Given the description of an element on the screen output the (x, y) to click on. 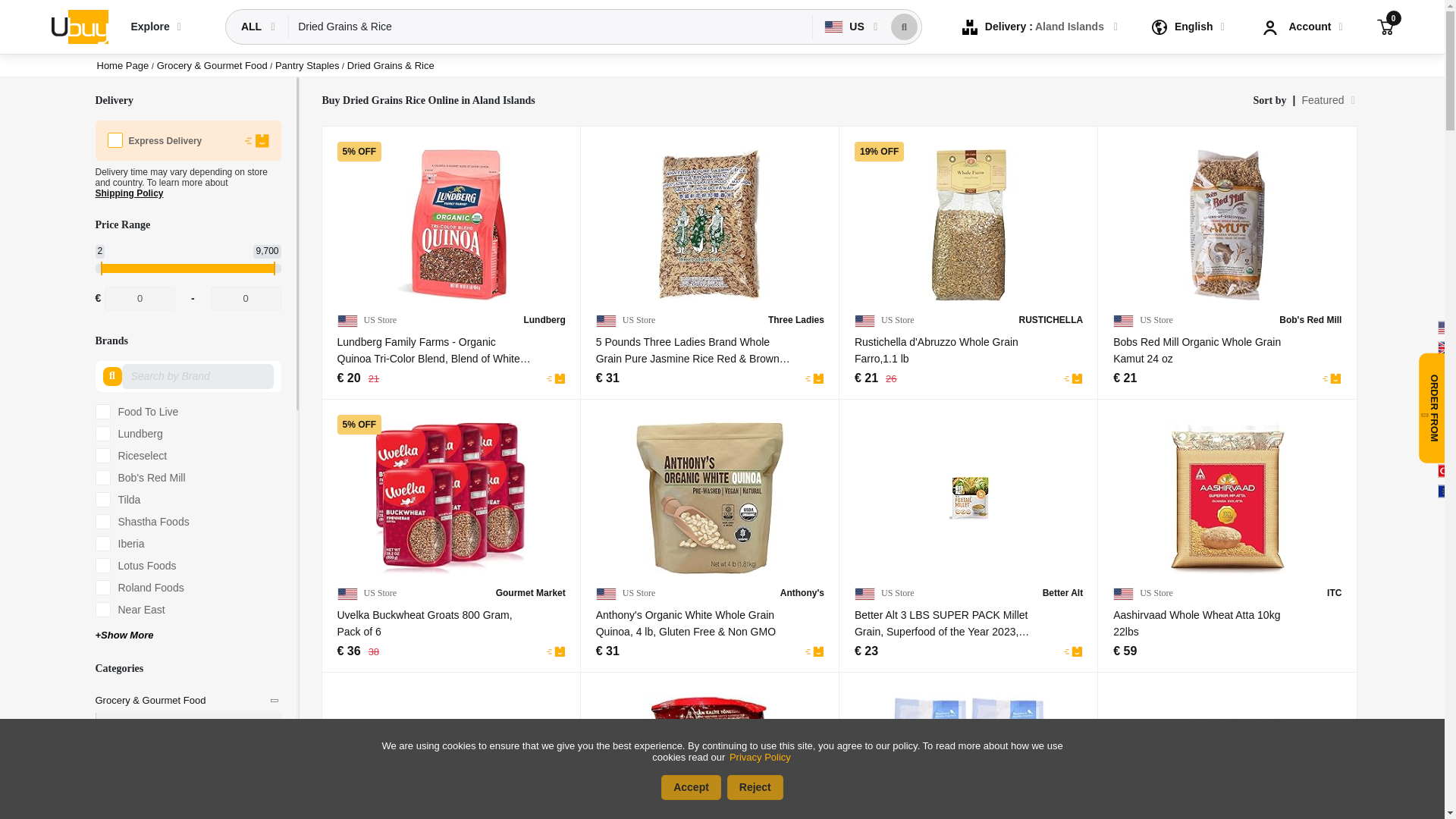
US (845, 26)
Ubuy (78, 26)
0 (139, 298)
0 (1385, 26)
0 (246, 298)
ALL (253, 26)
